Given the description of an element on the screen output the (x, y) to click on. 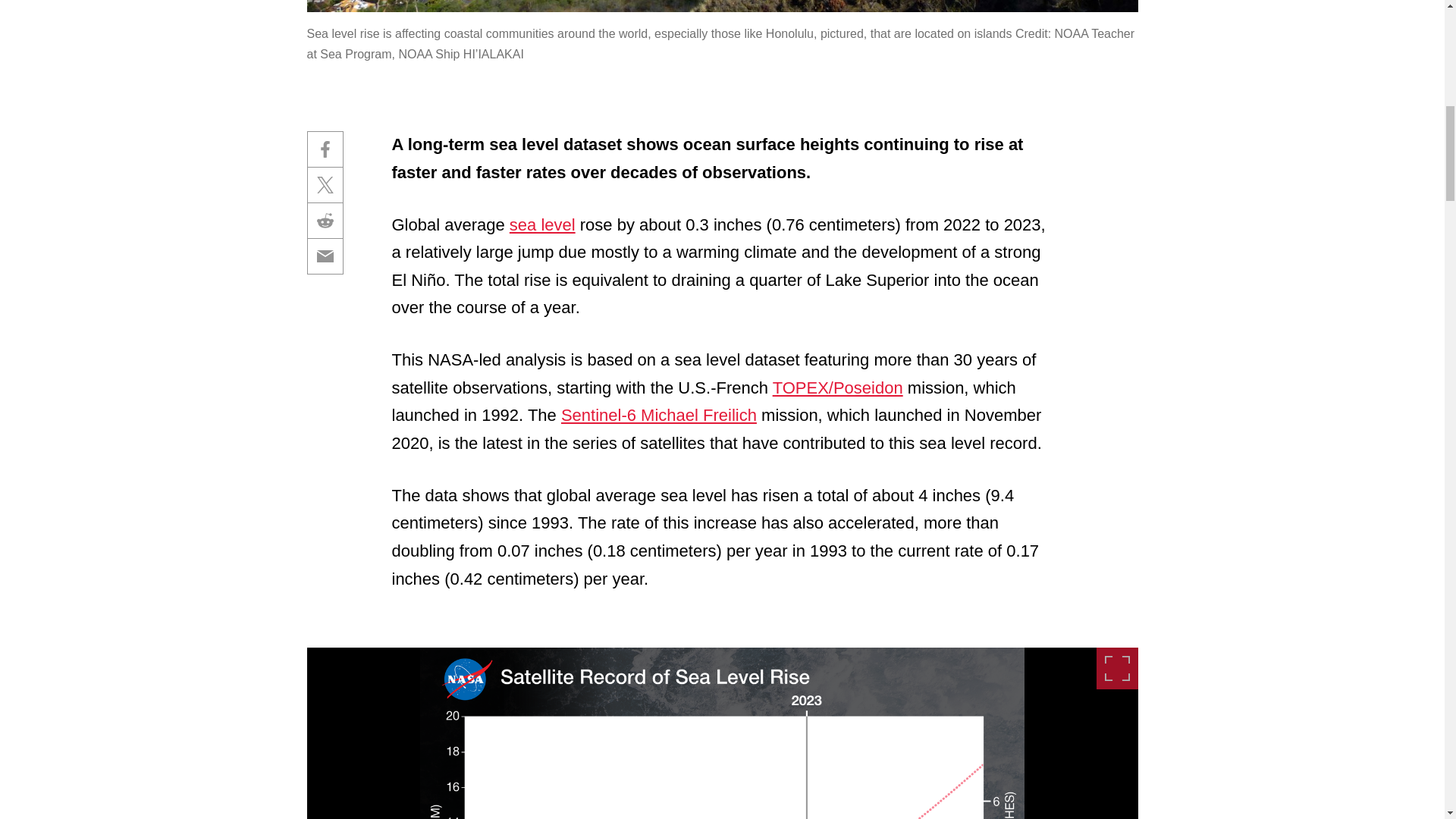
sea level (542, 224)
Sentinel-6 Michael Freilich (658, 415)
